Given the description of an element on the screen output the (x, y) to click on. 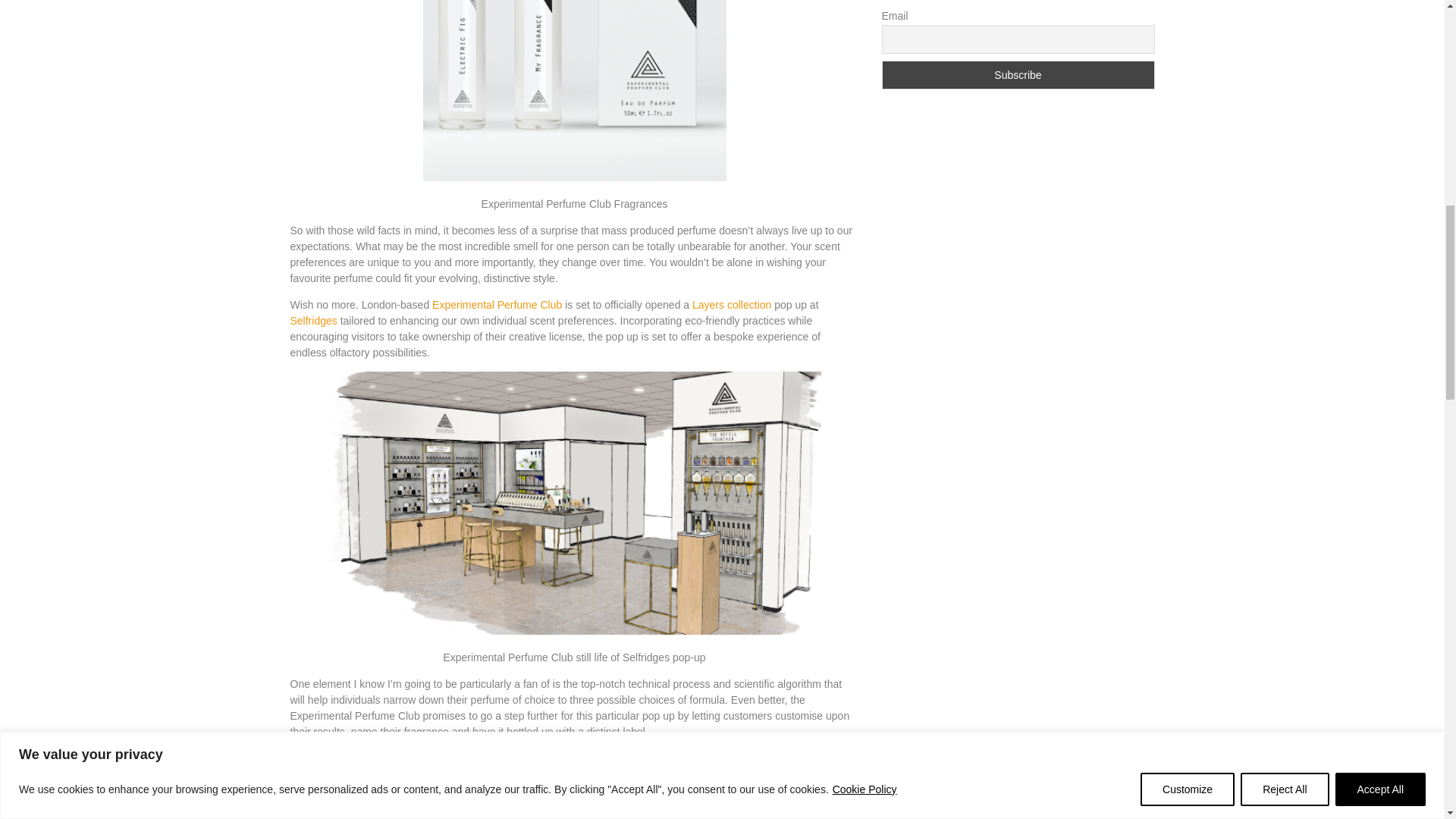
Subscribe (1017, 74)
